Given the description of an element on the screen output the (x, y) to click on. 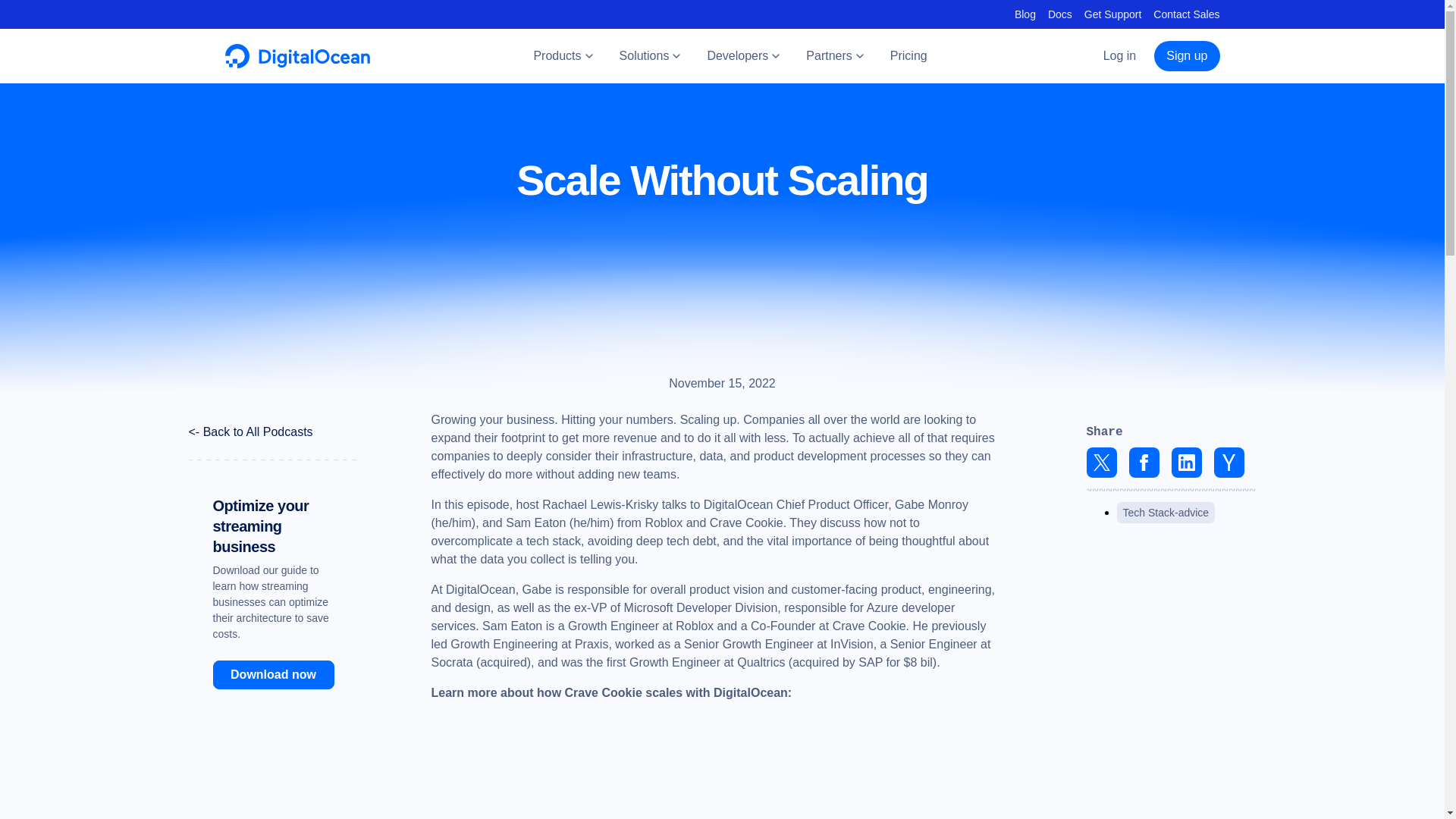
Docs (1059, 14)
Share to Facebook (1143, 462)
Share to YCombinator (1227, 462)
Get Support (1112, 14)
Share to LinkedIn (1185, 462)
DigitalOcean (296, 63)
Products (564, 55)
Contact Sales (1186, 14)
Blog (1024, 14)
